Given the description of an element on the screen output the (x, y) to click on. 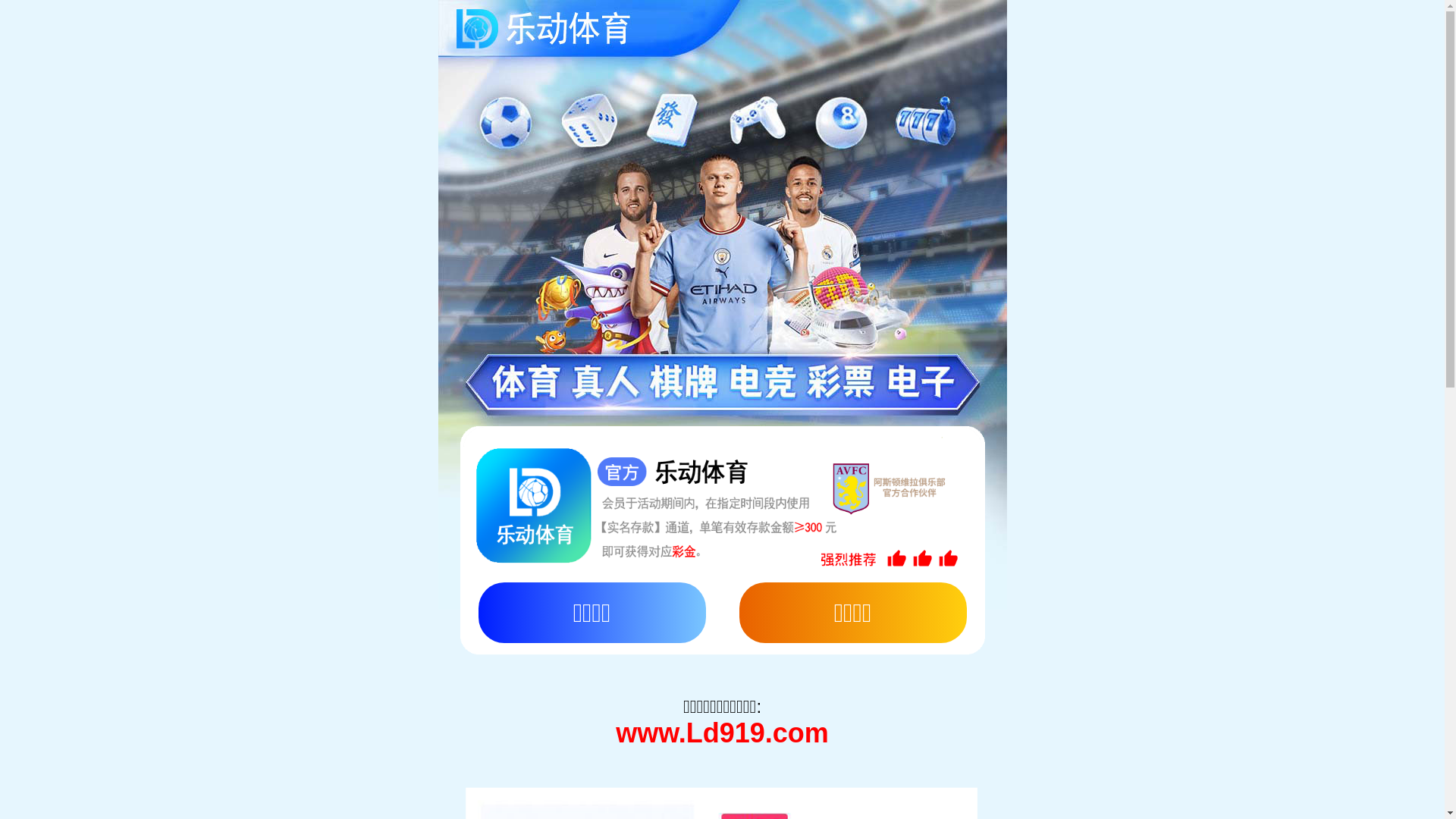
sitemap Element type: text (992, 8)
TXT Element type: text (1048, 8)
html Element type: text (1023, 8)
